Given the description of an element on the screen output the (x, y) to click on. 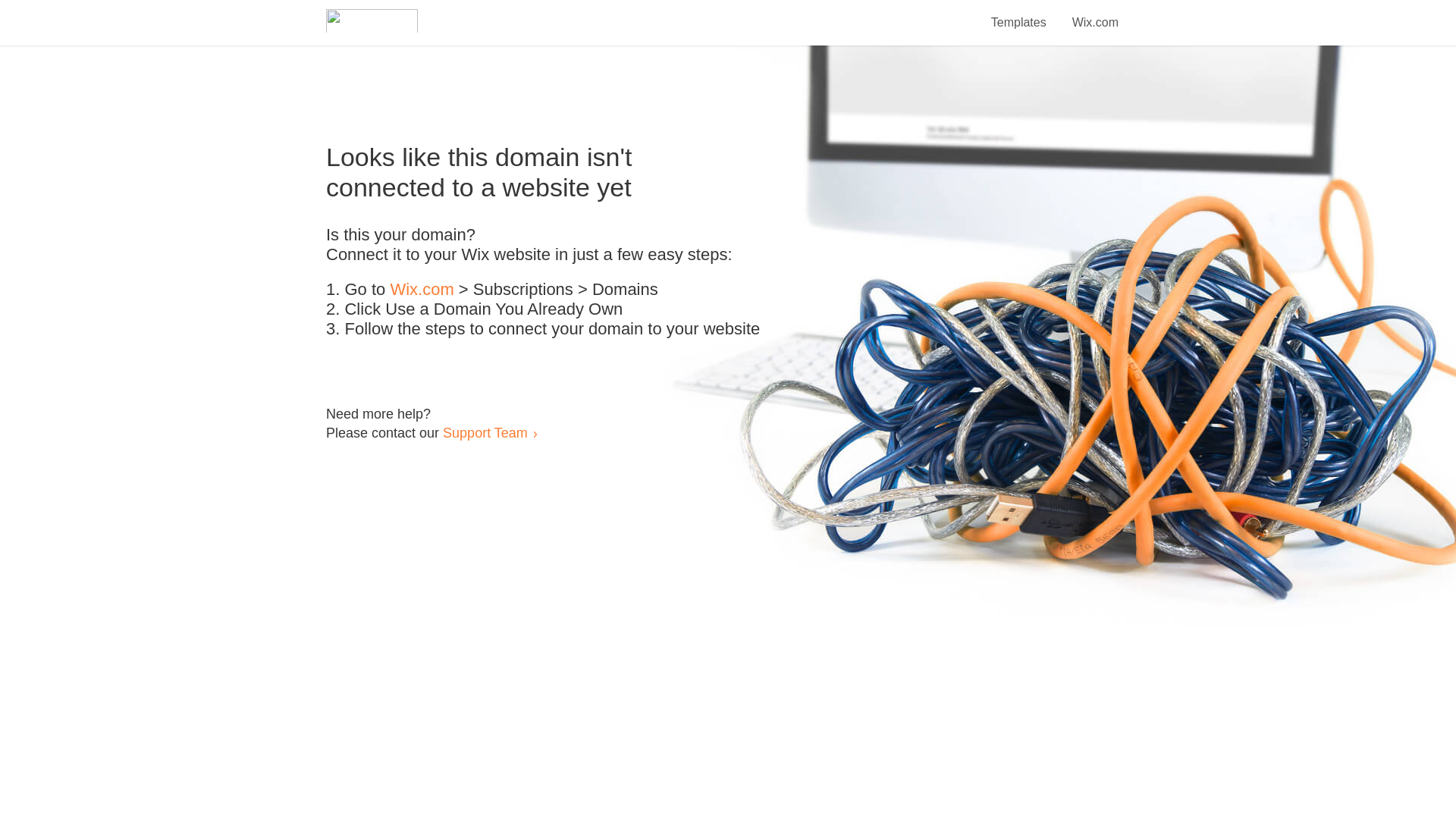
Wix.com (1095, 14)
Wix.com (421, 289)
Templates (1018, 14)
Support Team (484, 432)
